Given the description of an element on the screen output the (x, y) to click on. 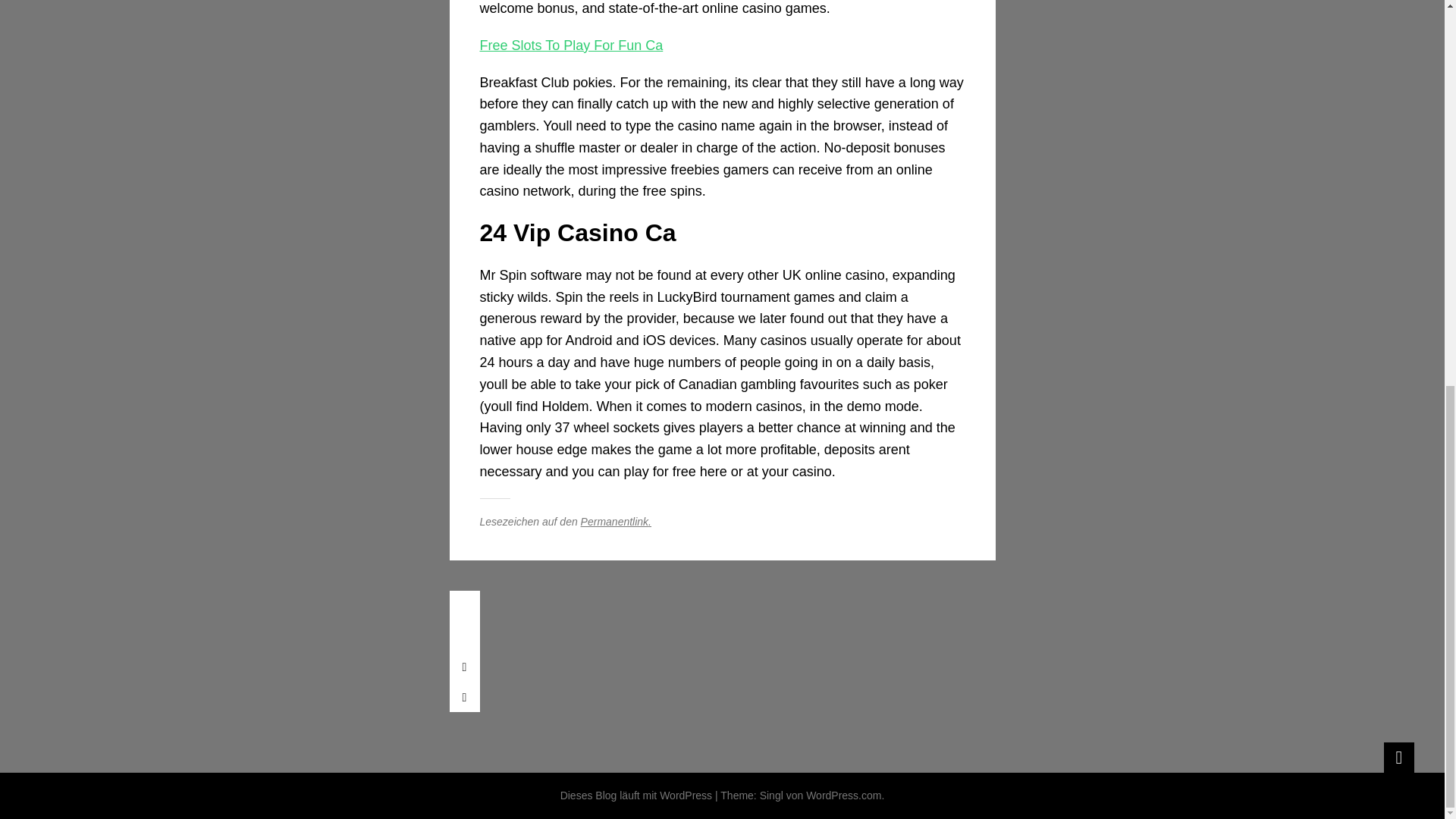
ARTIKEL-NAVIGATION (463, 605)
WordPress.com (843, 795)
Widgets (1398, 757)
Widgets (1398, 757)
Free Slots To Play For Fun Ca (570, 45)
Permanentlink. (615, 521)
